Given the description of an element on the screen output the (x, y) to click on. 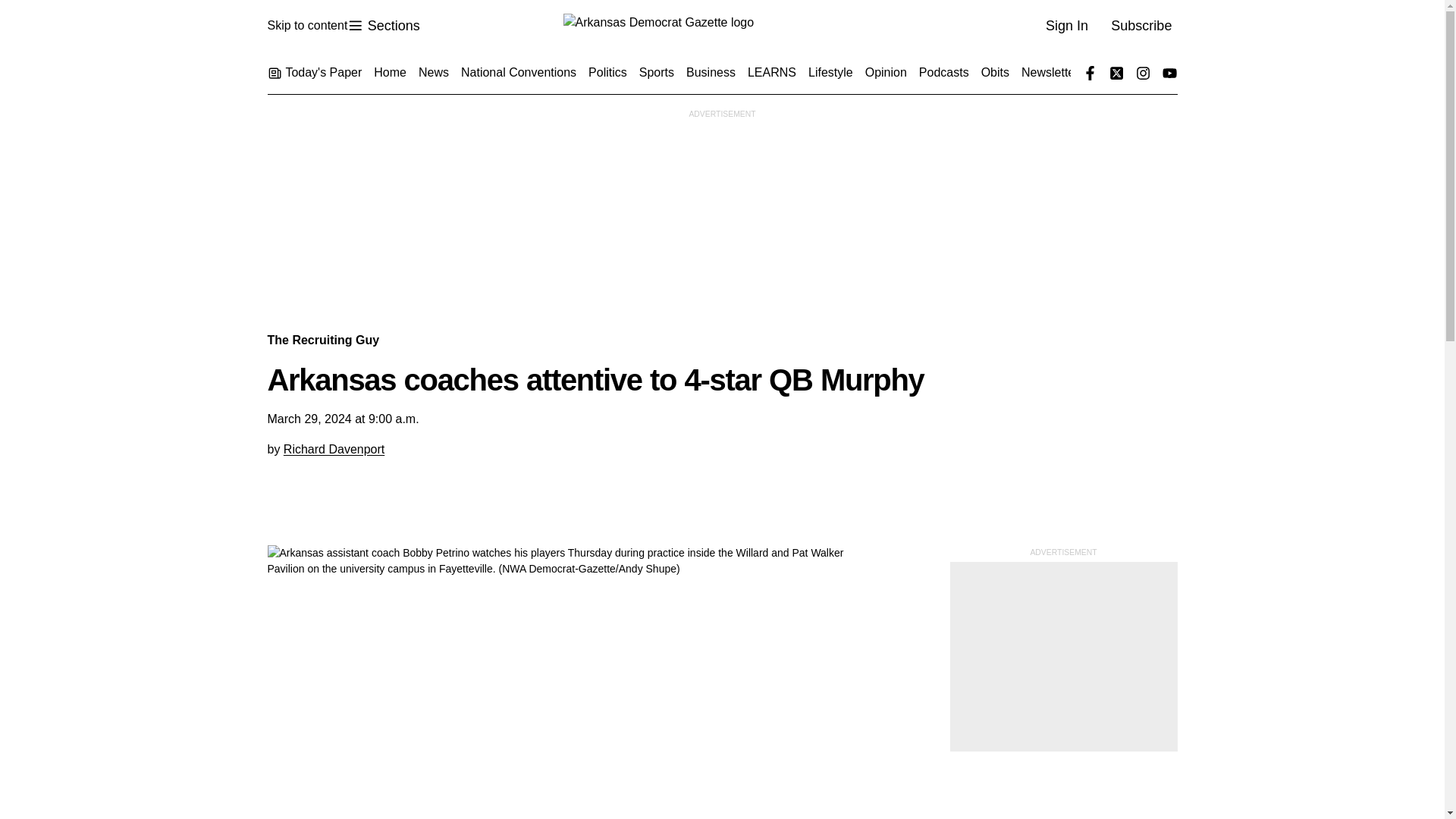
Skip to content (306, 25)
Arkansas Democrat Gazette (383, 25)
